Given the description of an element on the screen output the (x, y) to click on. 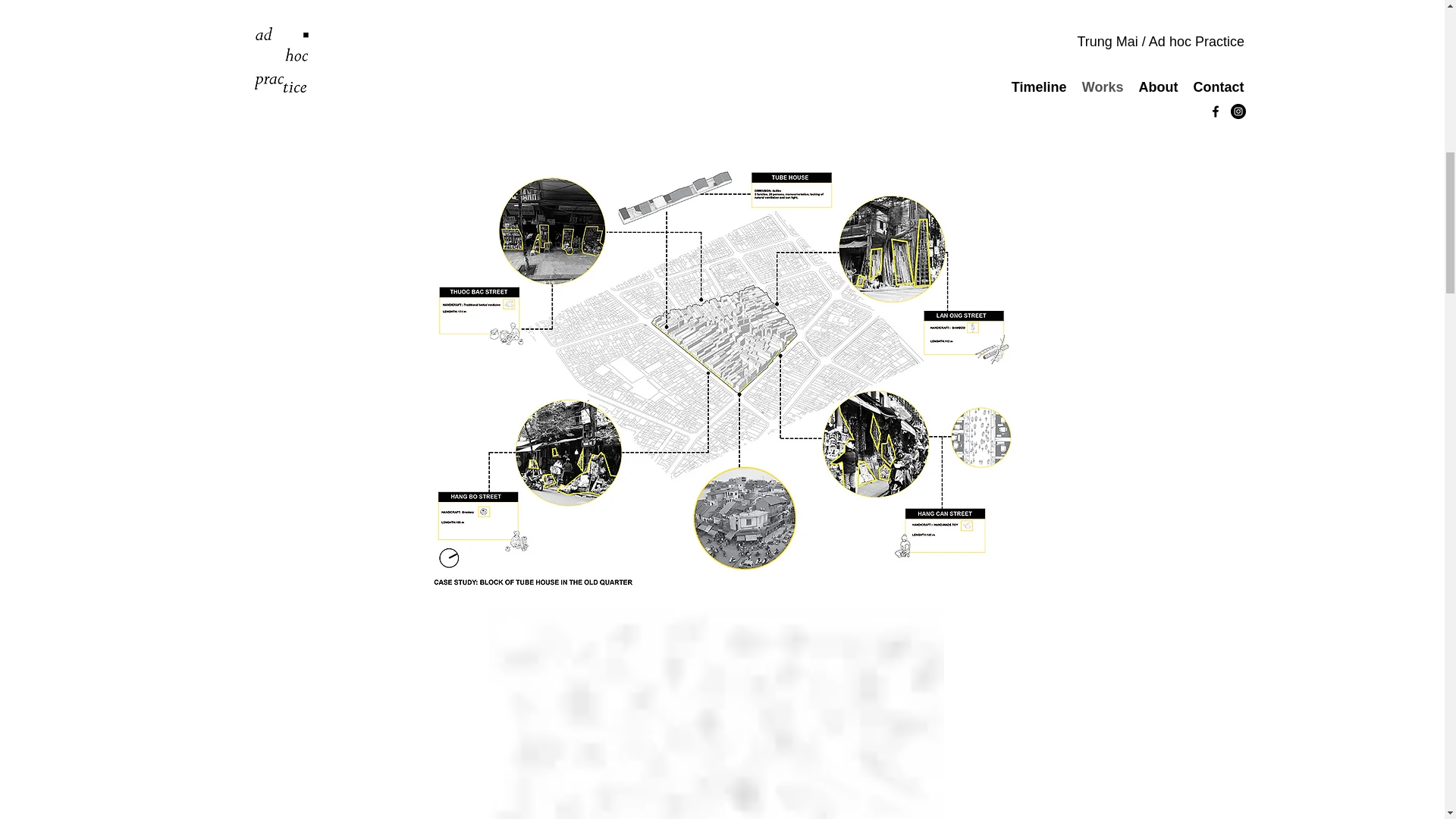
community of Spec go green prize in Vietnam (712, 59)
category architecture for the  (544, 59)
